Given the description of an element on the screen output the (x, y) to click on. 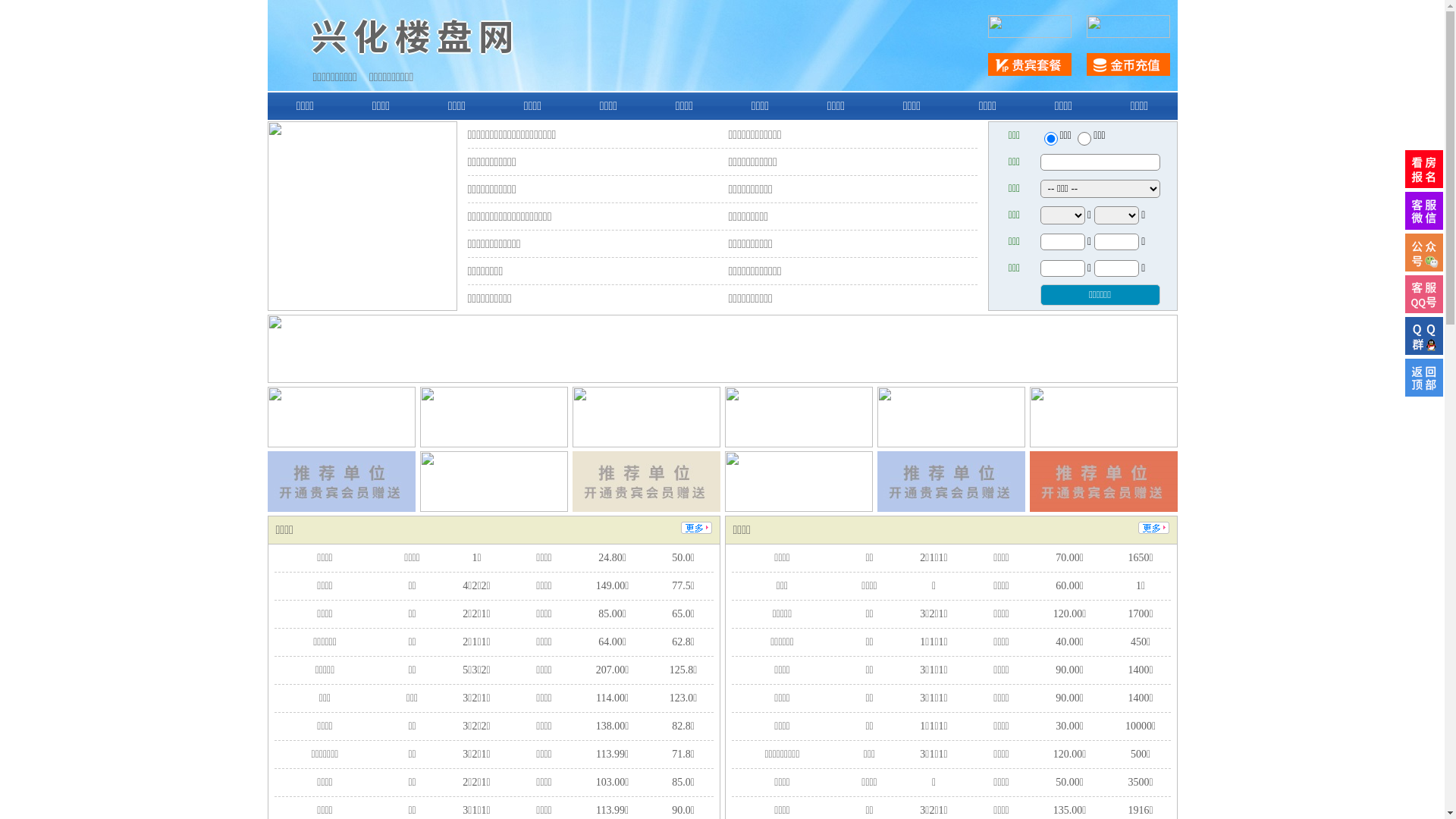
ershou Element type: text (1050, 138)
chuzu Element type: text (1084, 138)
